Given the description of an element on the screen output the (x, y) to click on. 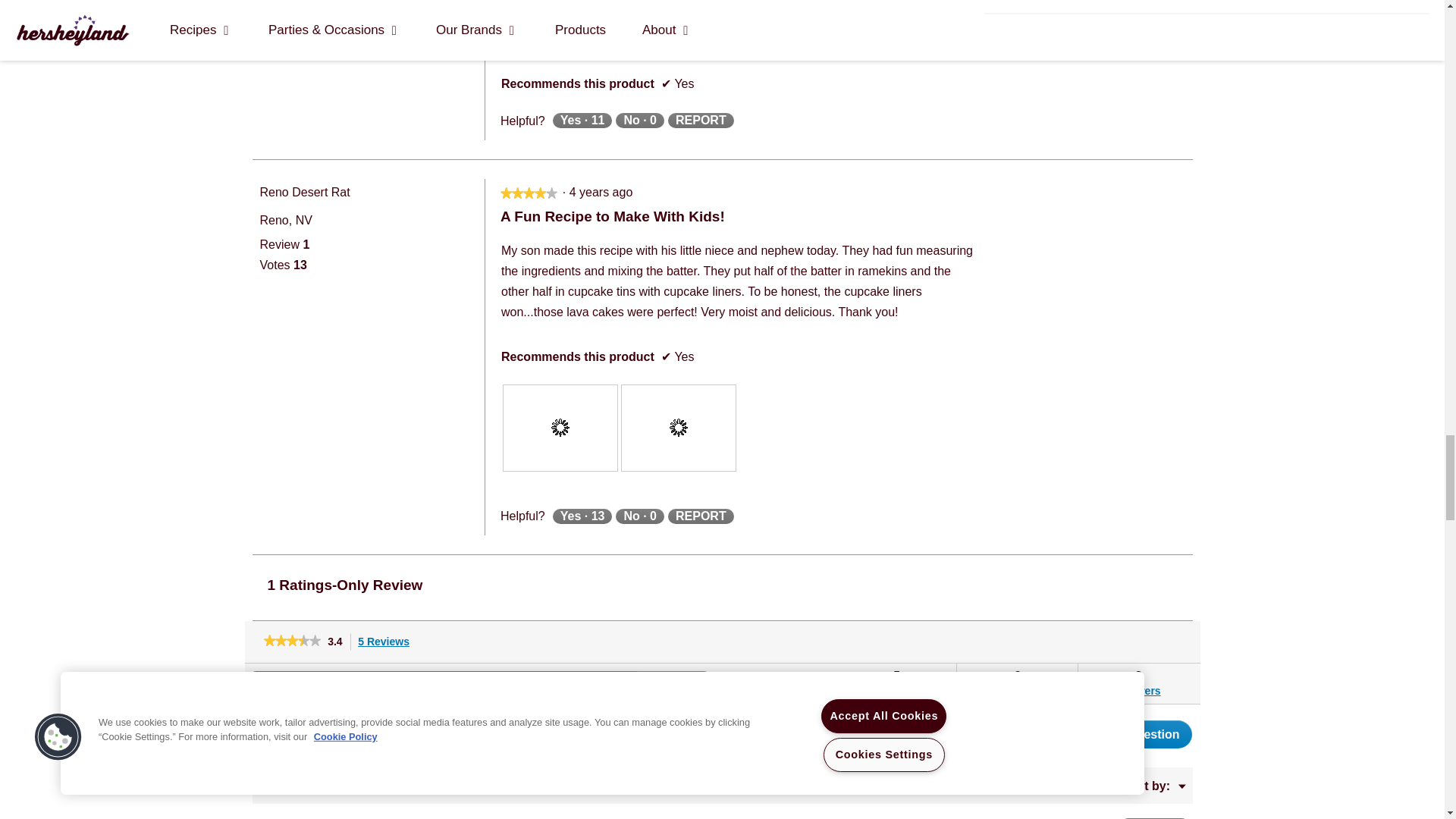
Read 5 Reviews (291, 642)
4 out of 5 stars. (523, 192)
4 out of 5 stars. (528, 192)
